Given the description of an element on the screen output the (x, y) to click on. 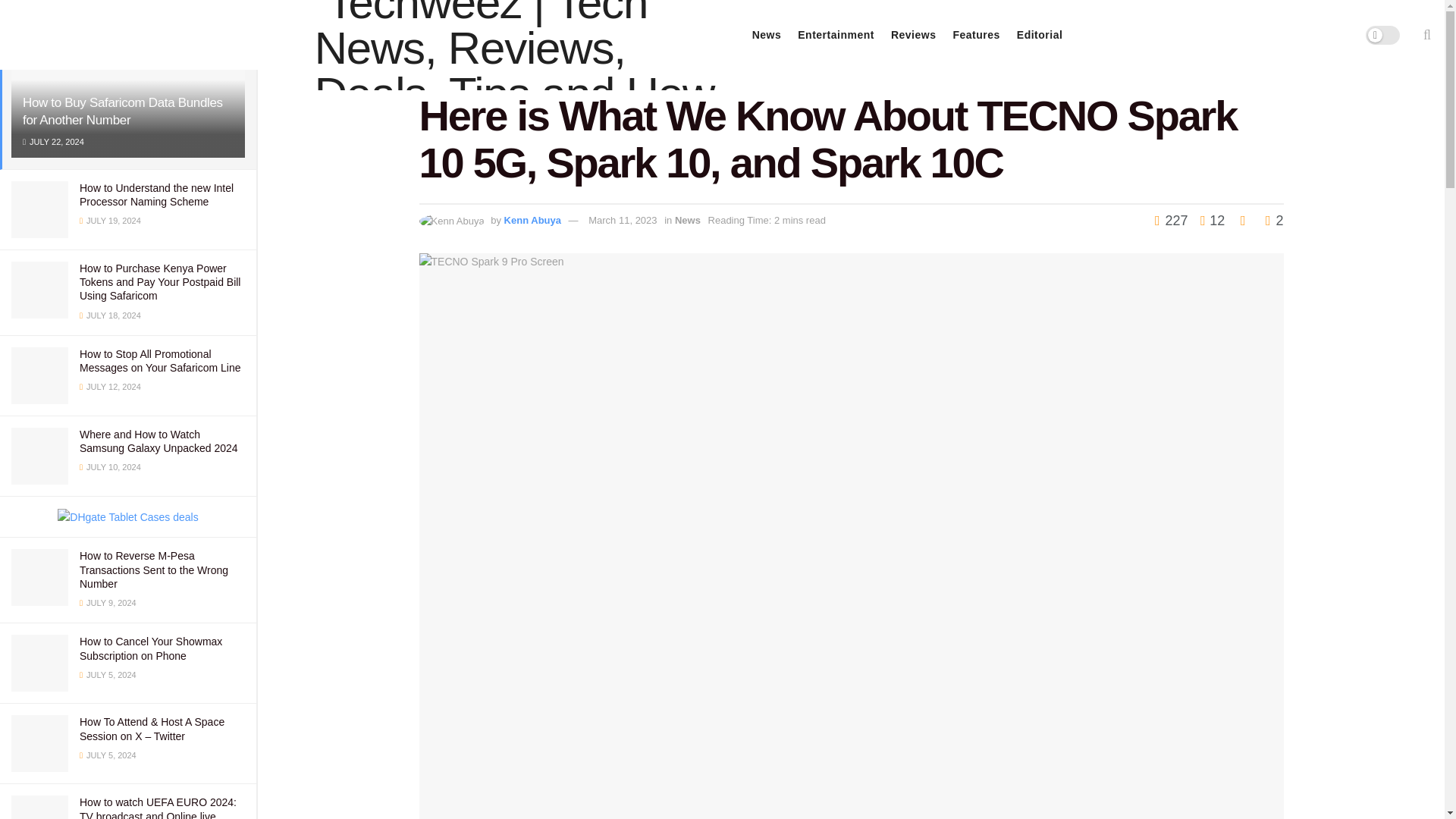
How to Understand the new Intel Processor Naming Scheme (156, 194)
DHgate Tablet Cases deals (128, 516)
Where and How to Watch Samsung Galaxy Unpacked 2024 (159, 441)
How to Buy Safaricom Data Bundles for Another Number (122, 111)
How to Cancel Your Showmax Subscription on Phone (151, 647)
Entertainment (836, 34)
Reviews (913, 34)
News (766, 34)
How to Reverse M-Pesa Transactions Sent to the Wrong Number (154, 568)
Editorial (1039, 34)
How to Stop All Promotional Messages on Your Safaricom Line (160, 360)
Features (975, 34)
